Given the description of an element on the screen output the (x, y) to click on. 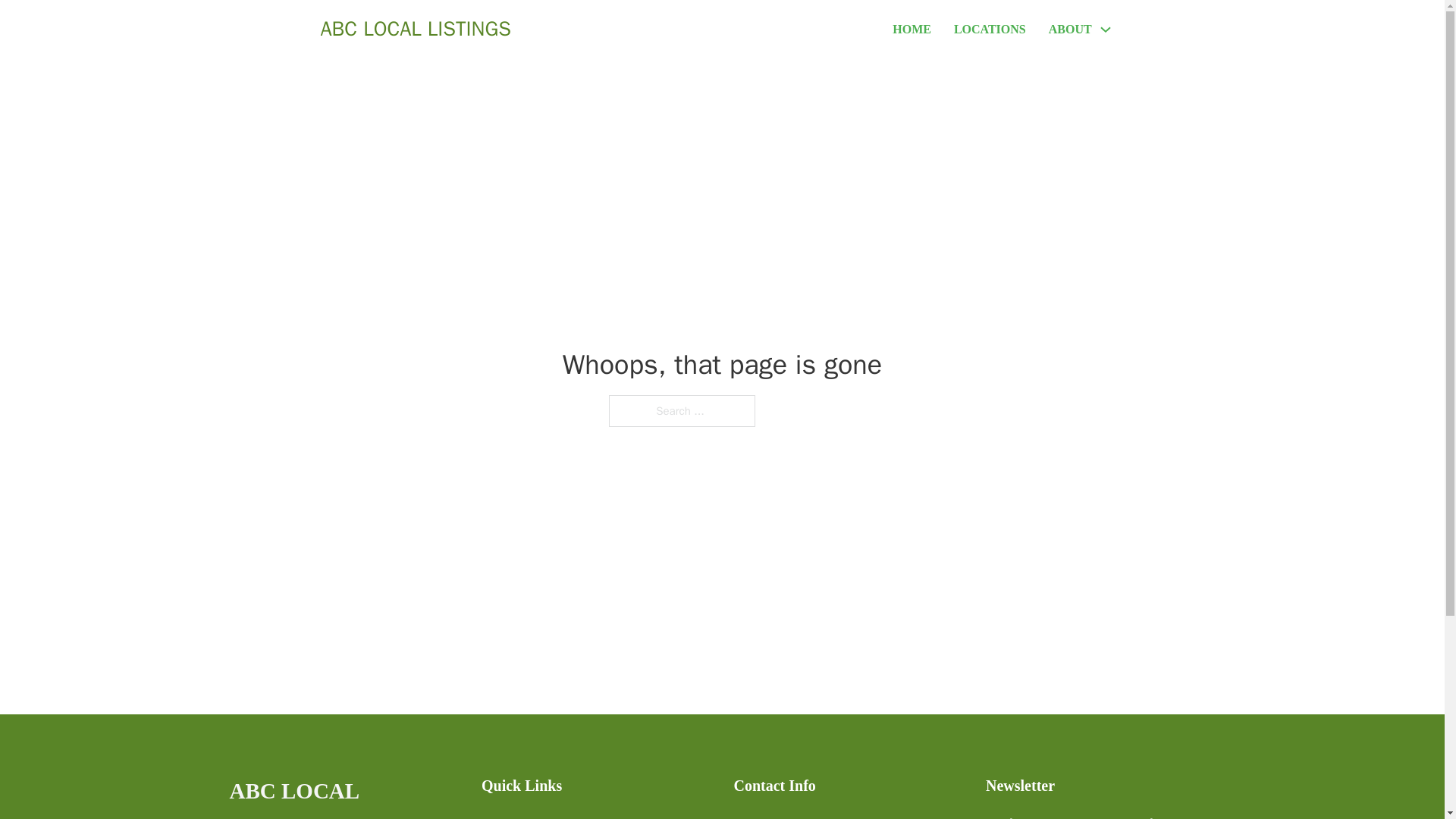
HOME (911, 28)
ABC LOCAL LISTINGS (415, 28)
LOCATIONS (989, 28)
ABC LOCAL LISTINGS (343, 796)
Home (496, 816)
